Given the description of an element on the screen output the (x, y) to click on. 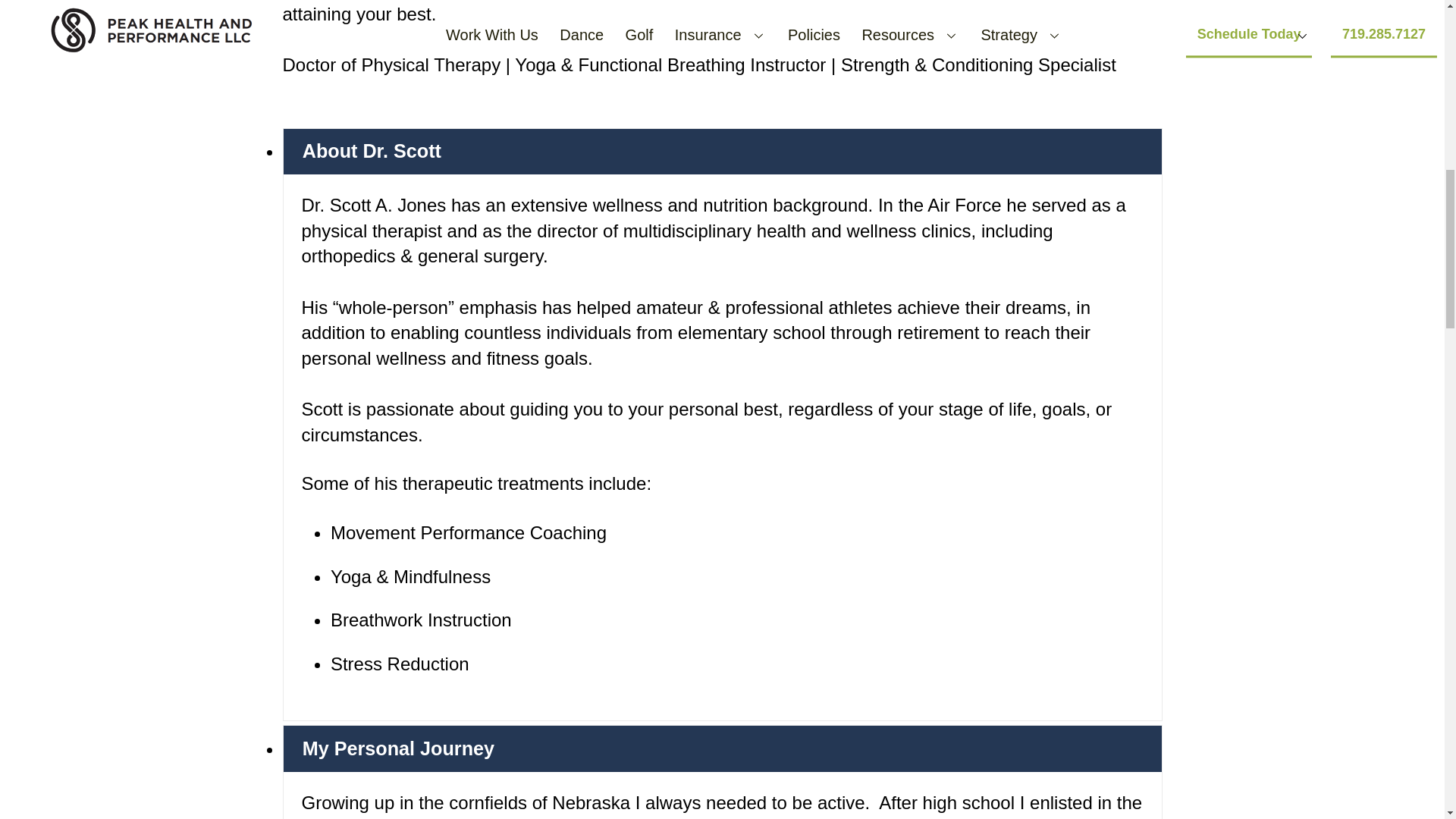
My Personal Journey (722, 748)
About Dr. Scott (722, 151)
